Given the description of an element on the screen output the (x, y) to click on. 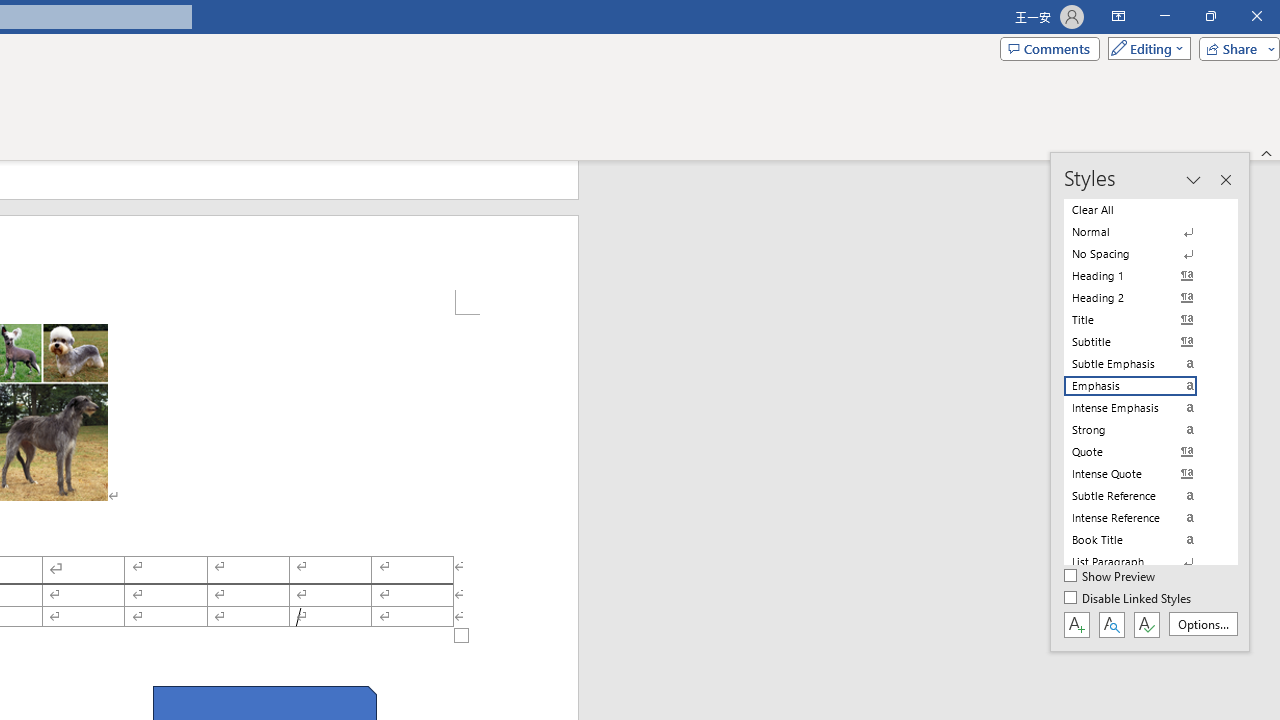
Heading 2 (1142, 297)
Subtle Emphasis (1142, 363)
Intense Emphasis (1142, 407)
Normal (1142, 232)
Book Title (1142, 539)
Disable Linked Styles (1129, 599)
Subtle Reference (1142, 495)
No Spacing (1142, 253)
